Given the description of an element on the screen output the (x, y) to click on. 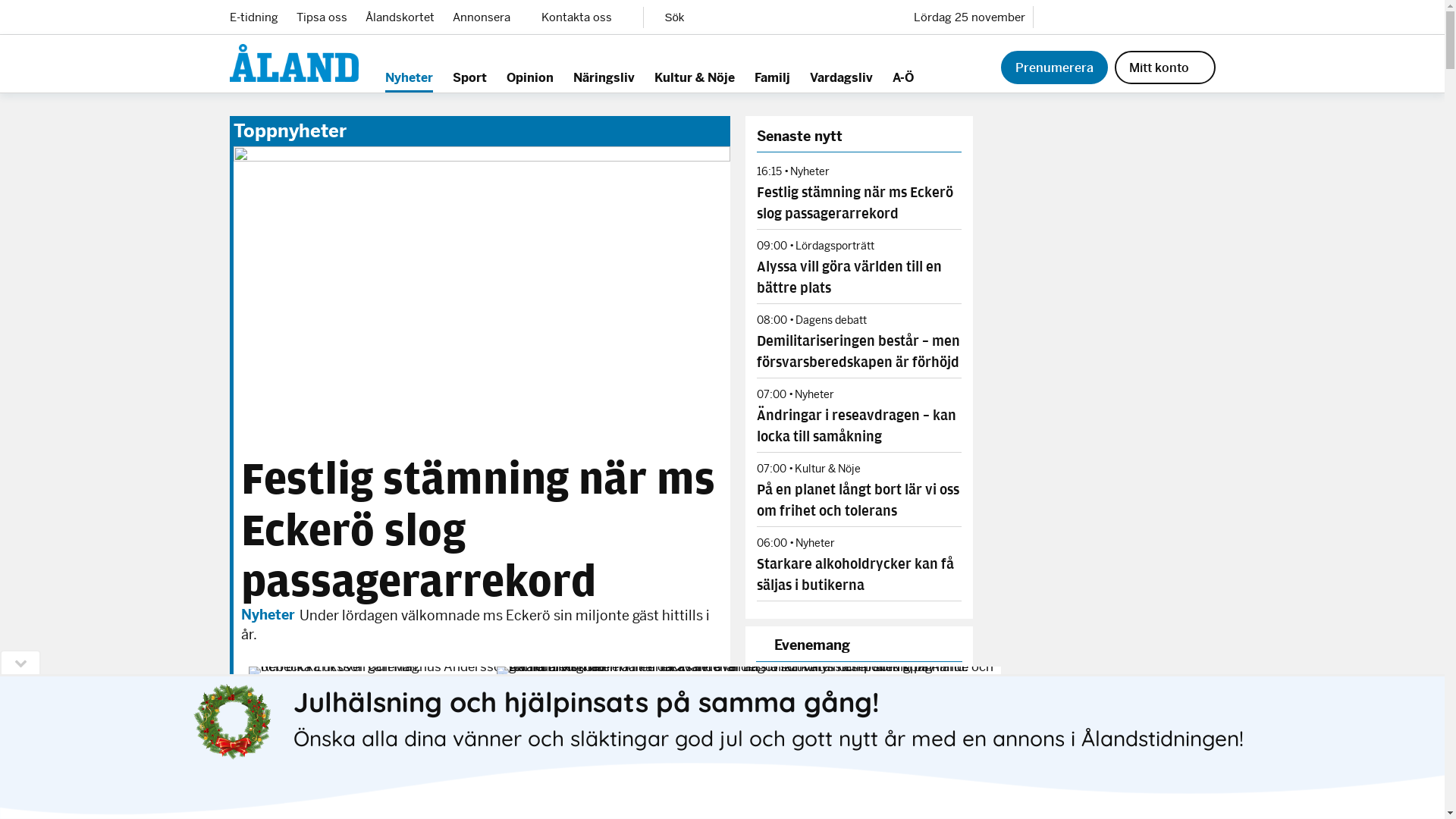
Kontakta oss Element type: text (582, 17)
Hem Element type: hover (293, 62)
Vardagsliv Element type: text (840, 79)
Prenumerera Element type: text (1054, 67)
Tipsa oss Element type: text (320, 17)
Mitt konto Element type: text (1164, 67)
Nyheter Element type: text (409, 79)
Dj Kulas spelar i Arken Nattklubb Element type: text (817, 796)
Opinion Element type: text (529, 79)
Sport Element type: text (468, 79)
E-tidning Element type: text (253, 17)
Familj Element type: text (771, 79)
Annonsera Element type: text (486, 17)
